Given the description of an element on the screen output the (x, y) to click on. 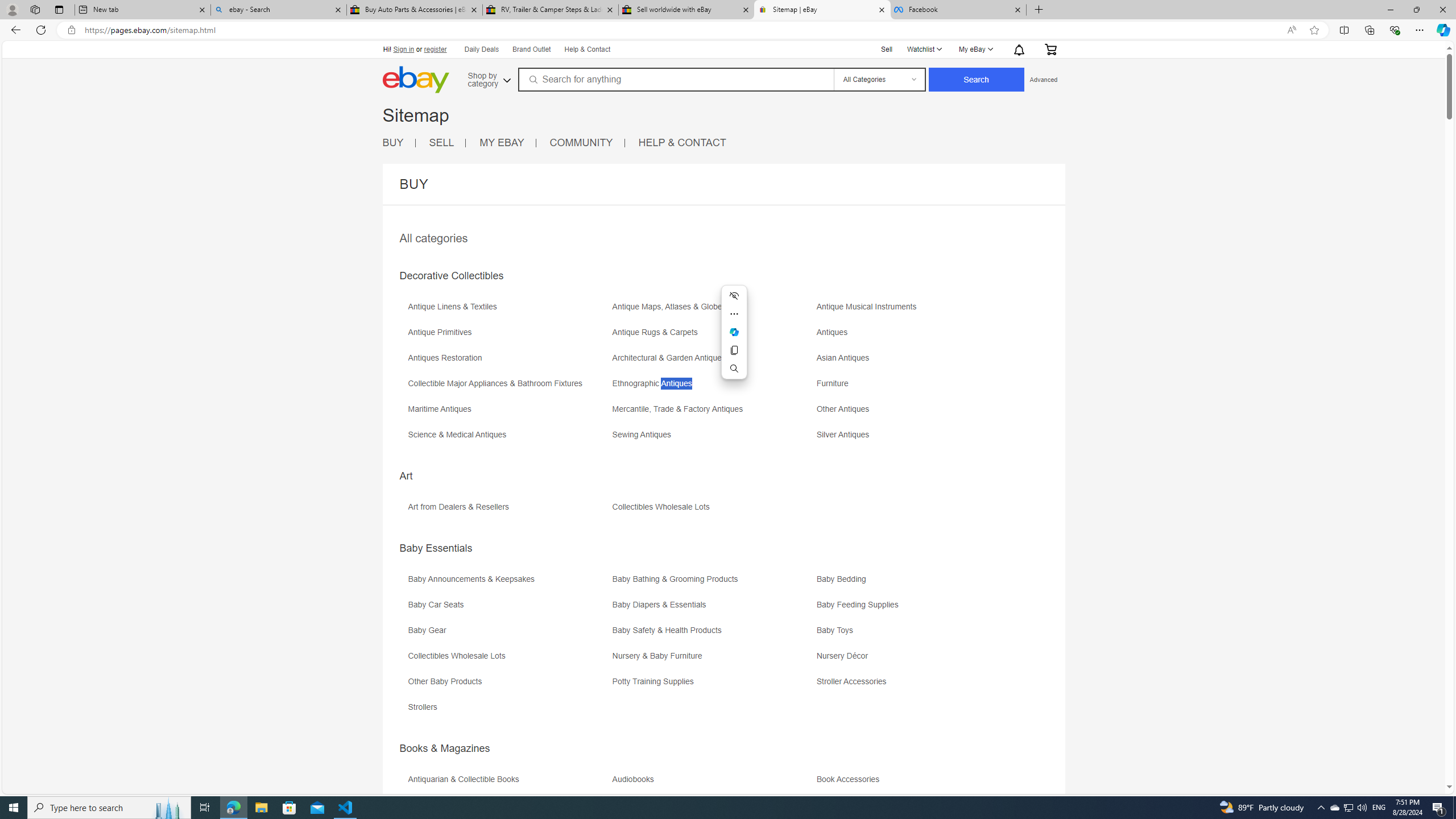
Other Baby Products (508, 685)
Collectibles Wholesale Lots (508, 659)
Asian Antiques (917, 361)
COMMUNITY (580, 142)
Daily Deals (481, 49)
Antiques Restoration (447, 357)
My eBay (975, 49)
Antique Primitives (508, 336)
Decorative Collectibles (450, 275)
Sign in (403, 49)
HELP & CONTACT (681, 142)
